Given the description of an element on the screen output the (x, y) to click on. 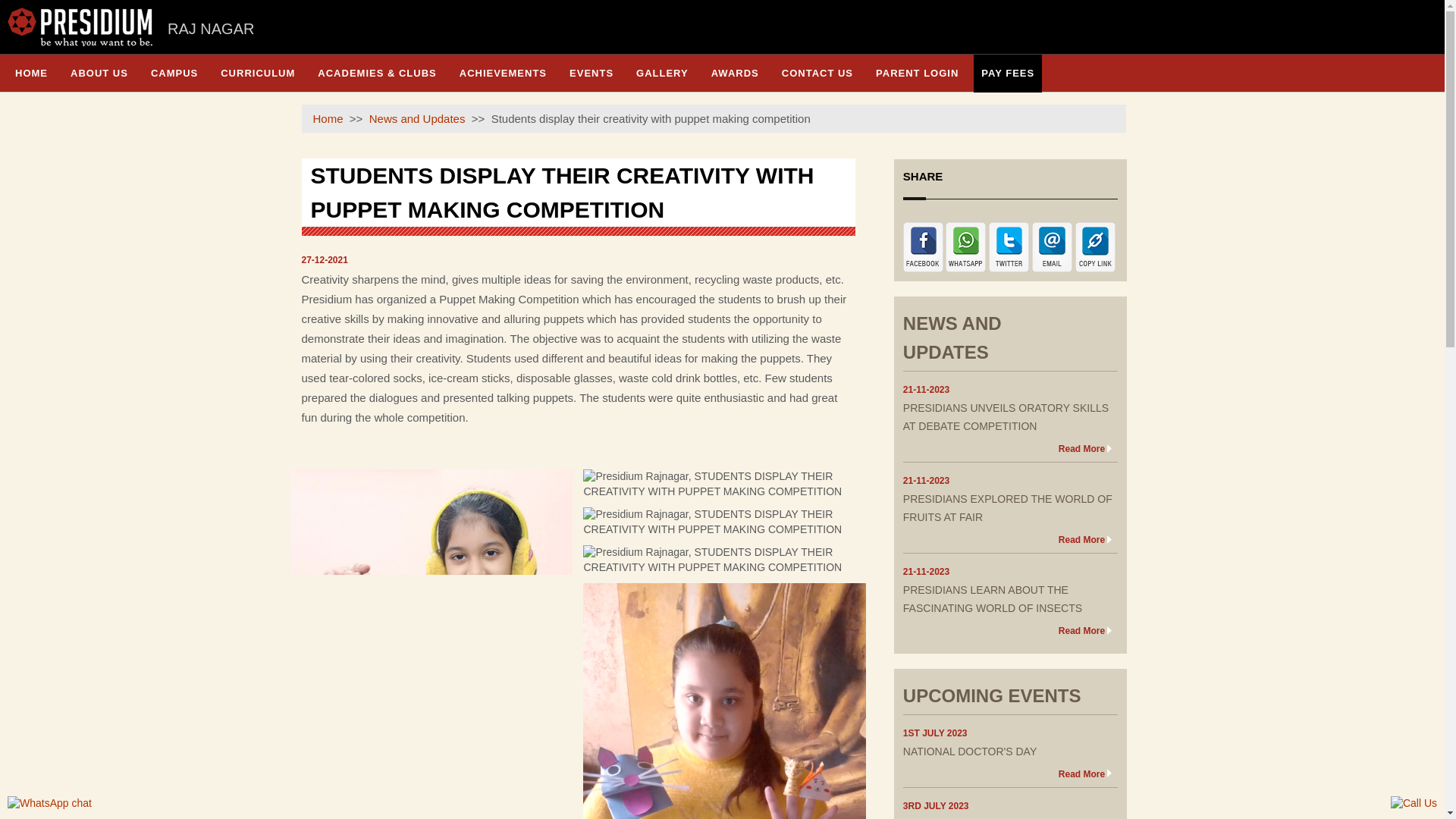
CURRICULUM (257, 72)
EVENTS (591, 72)
CAMPUS (173, 72)
ABOUT US (98, 72)
ACHIEVEMENTS (502, 72)
HOME (31, 72)
